Given the description of an element on the screen output the (x, y) to click on. 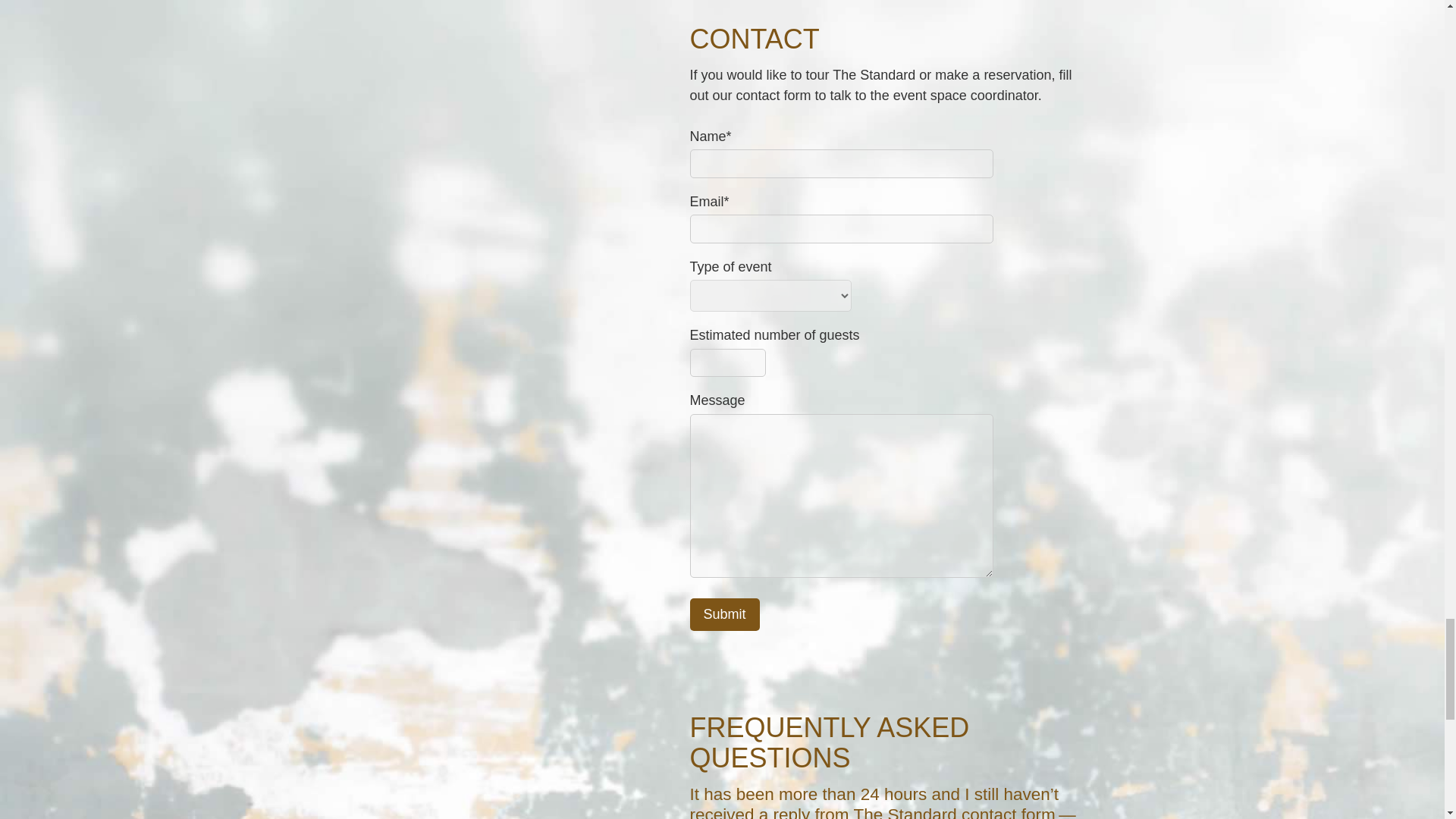
Submit (725, 614)
